Given the description of an element on the screen output the (x, y) to click on. 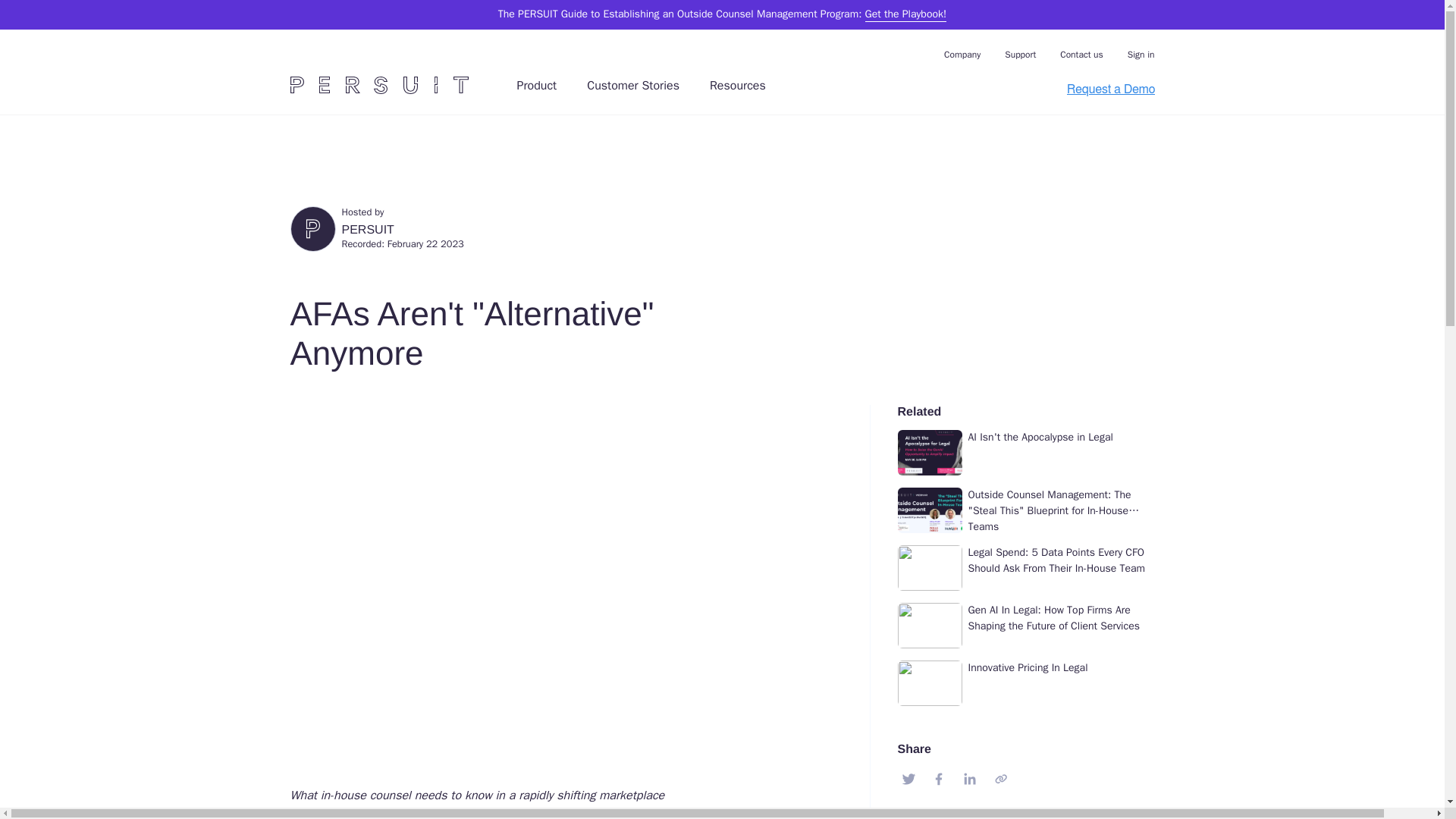
Company (961, 54)
Get the Playbook! (905, 15)
Product (536, 95)
Sign in (1140, 54)
Support (1019, 54)
Contact us (1081, 54)
Customer Stories (632, 95)
Resources (737, 95)
